Given the description of an element on the screen output the (x, y) to click on. 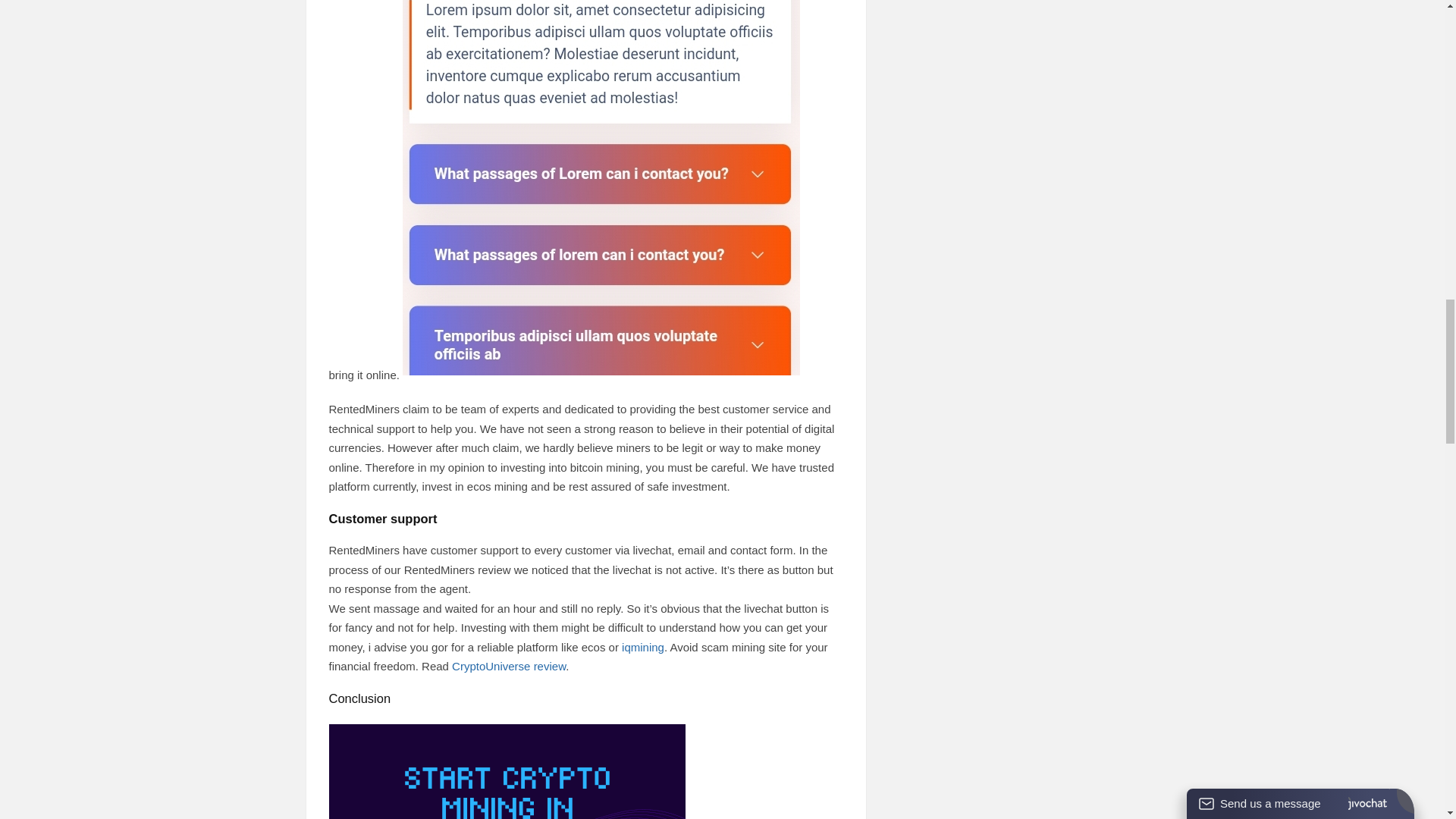
iqmining (642, 646)
CryptoUniverse review (508, 666)
